Given the description of an element on the screen output the (x, y) to click on. 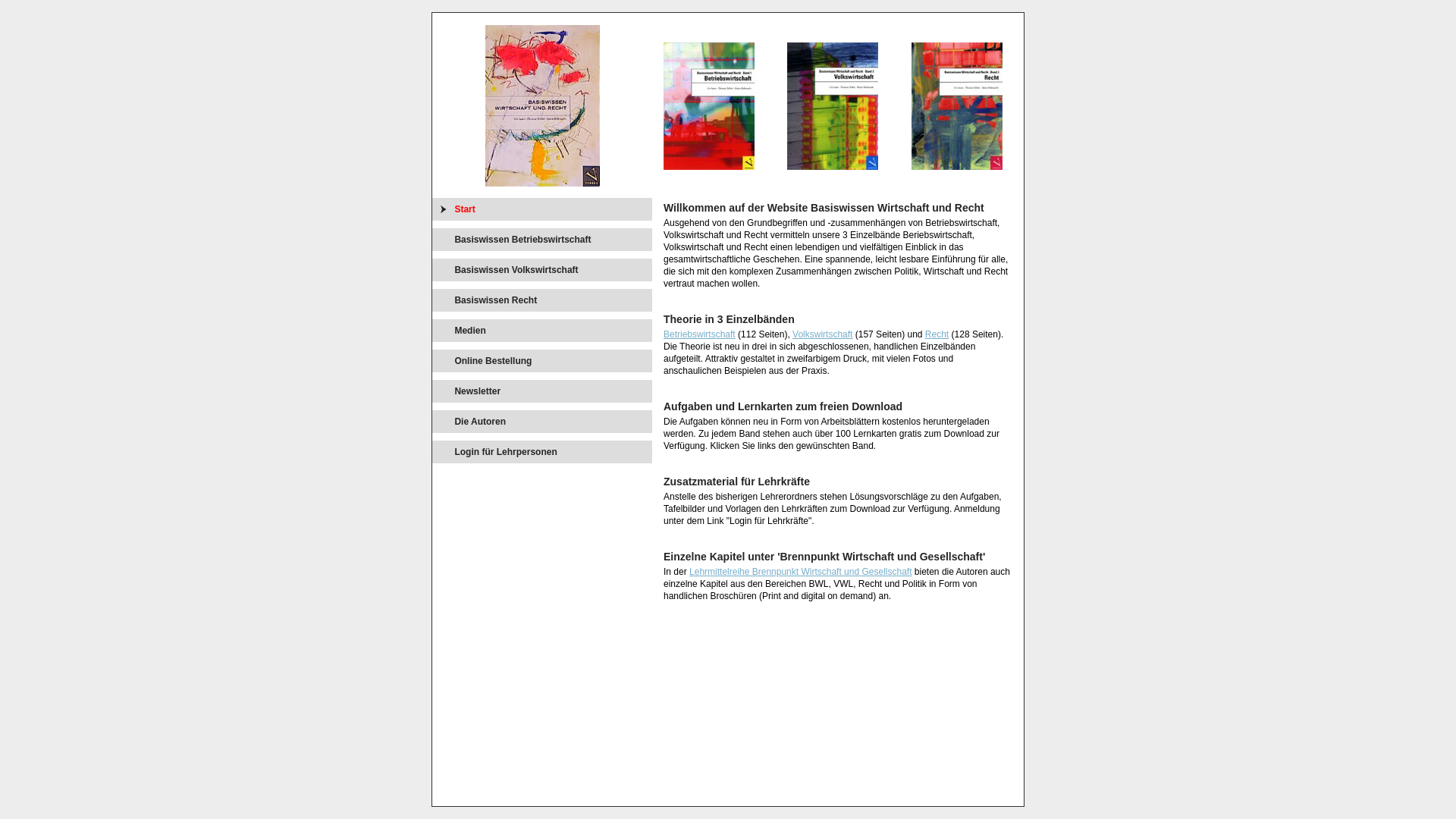
Betriebswirtschaft Element type: text (699, 334)
Volkswirtschaft Element type: text (822, 334)
Online Bestellung Element type: text (494, 360)
Lehrmittelreihe Brennpunkt Wirtschaft und Gesellschaft Element type: text (800, 571)
Basiswissen Volkswirtschaft Element type: text (517, 269)
Medien Element type: text (471, 330)
Newsletter Element type: text (479, 391)
Basiswissen Recht Element type: text (497, 300)
Basiswissen Betriebswirtschaft Element type: text (524, 239)
Recht Element type: text (936, 334)
Die Autoren Element type: text (481, 421)
